Given the description of an element on the screen output the (x, y) to click on. 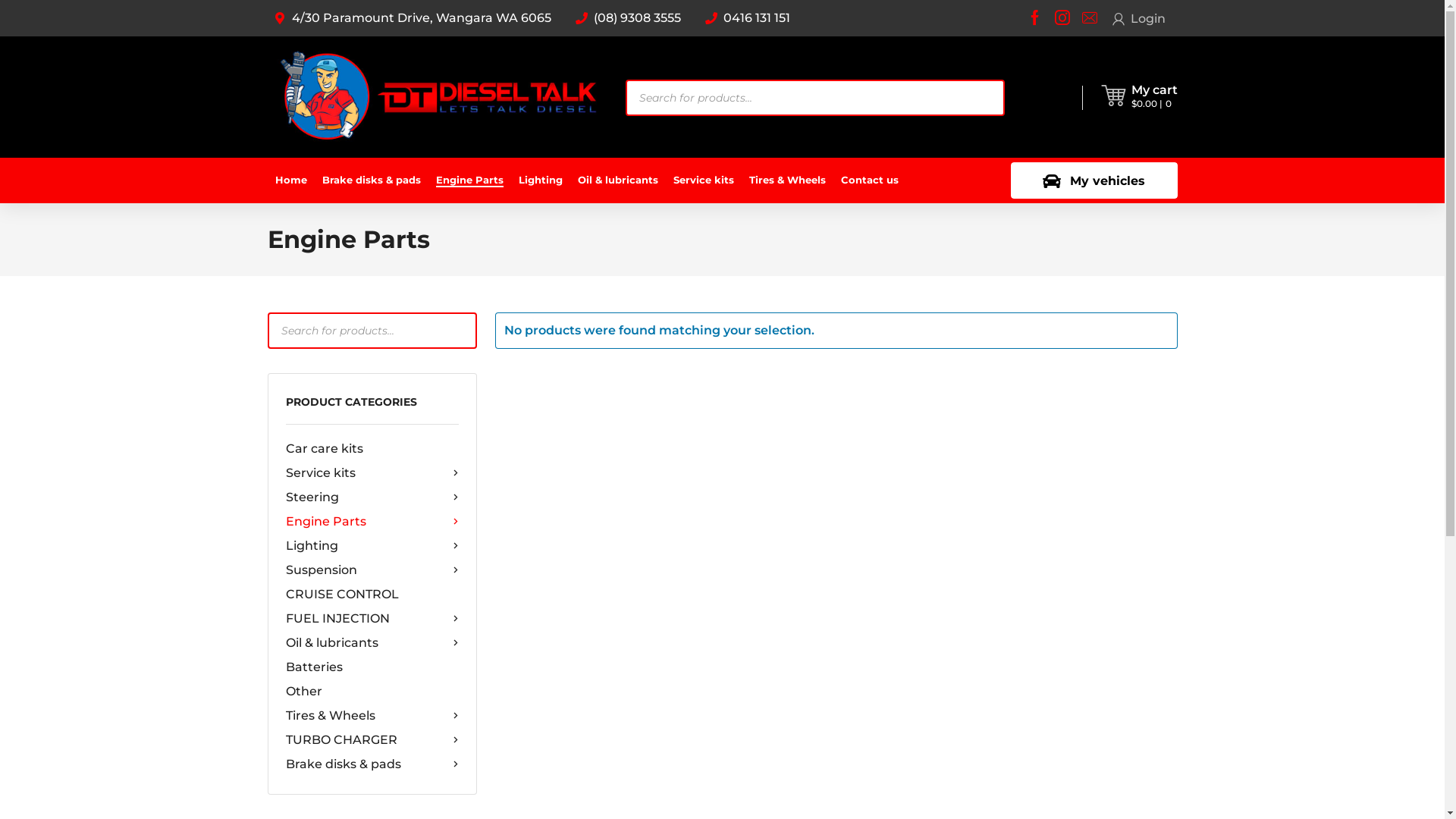
Diesel Talk Element type: hover (437, 96)
Other Element type: text (371, 691)
Oil & lubricants Element type: text (371, 642)
Engine Parts Element type: text (468, 179)
Car care kits Element type: text (371, 448)
Home Element type: text (290, 179)
Service kits Element type: text (371, 473)
Service kits Element type: text (703, 179)
Steering Element type: text (371, 497)
TURBO CHARGER Element type: text (371, 740)
Batteries Element type: text (371, 667)
Engine Parts Element type: text (371, 521)
FUEL INJECTION Element type: text (371, 618)
CRUISE CONTROL Element type: text (371, 594)
Tires & Wheels Element type: text (371, 715)
My cart
$0.00 0 Element type: text (1154, 96)
Lighting Element type: text (540, 179)
Brake disks & pads Element type: text (371, 764)
Suspension Element type: text (371, 570)
Oil & lubricants Element type: text (617, 179)
My vehicles Element type: text (1093, 180)
Brake disks & pads Element type: text (370, 179)
Contact us Element type: text (868, 179)
Lighting Element type: text (371, 545)
Tires & Wheels Element type: text (787, 179)
